Given the description of an element on the screen output the (x, y) to click on. 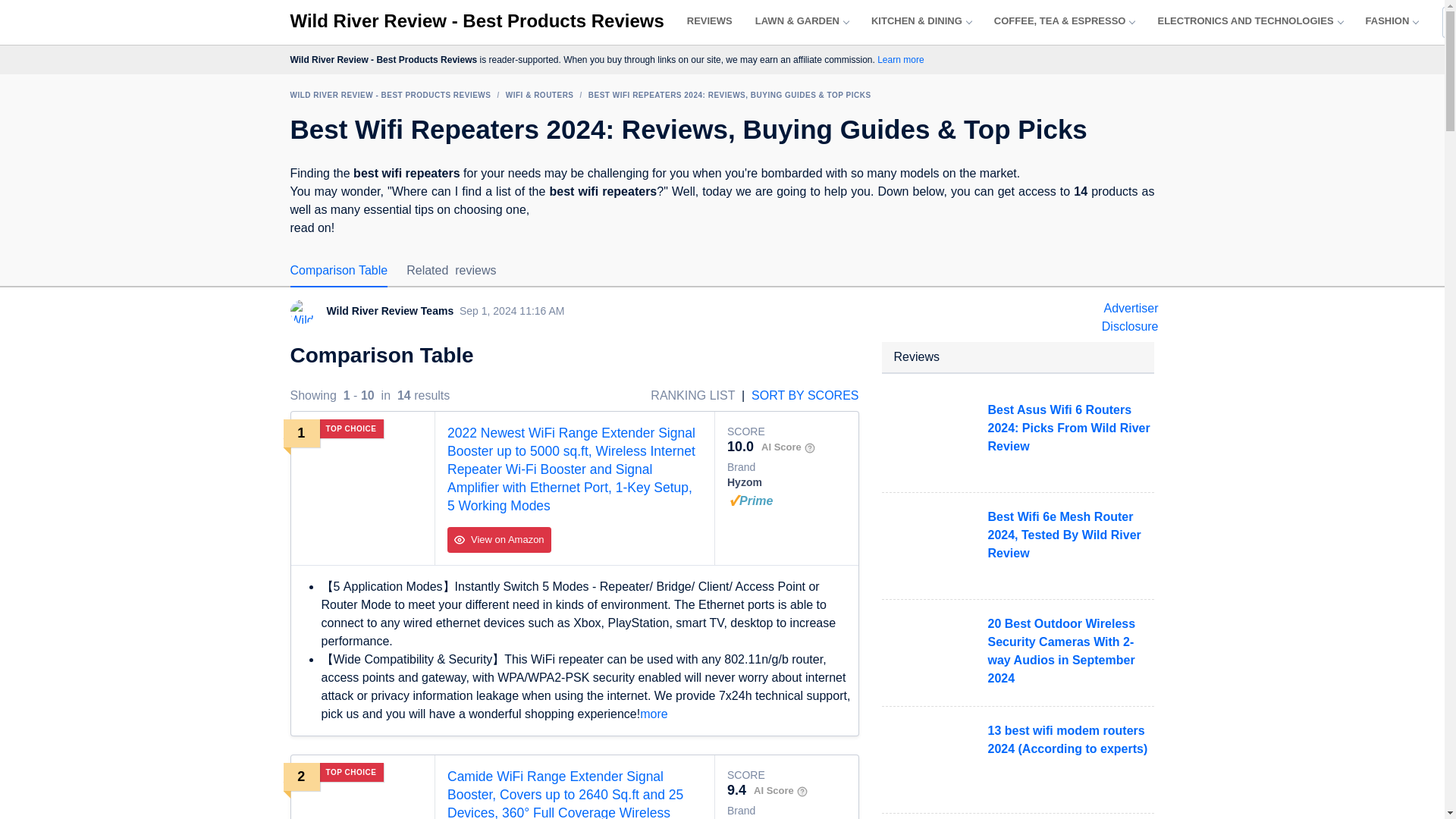
ELECTRONICS AND TECHNOLOGIES (1249, 20)
Reviews (709, 20)
Wild River Review - Best Products Reviews (476, 21)
REVIEWS (709, 20)
Comparison Table (338, 270)
Related  reviews (451, 270)
